Given the description of an element on the screen output the (x, y) to click on. 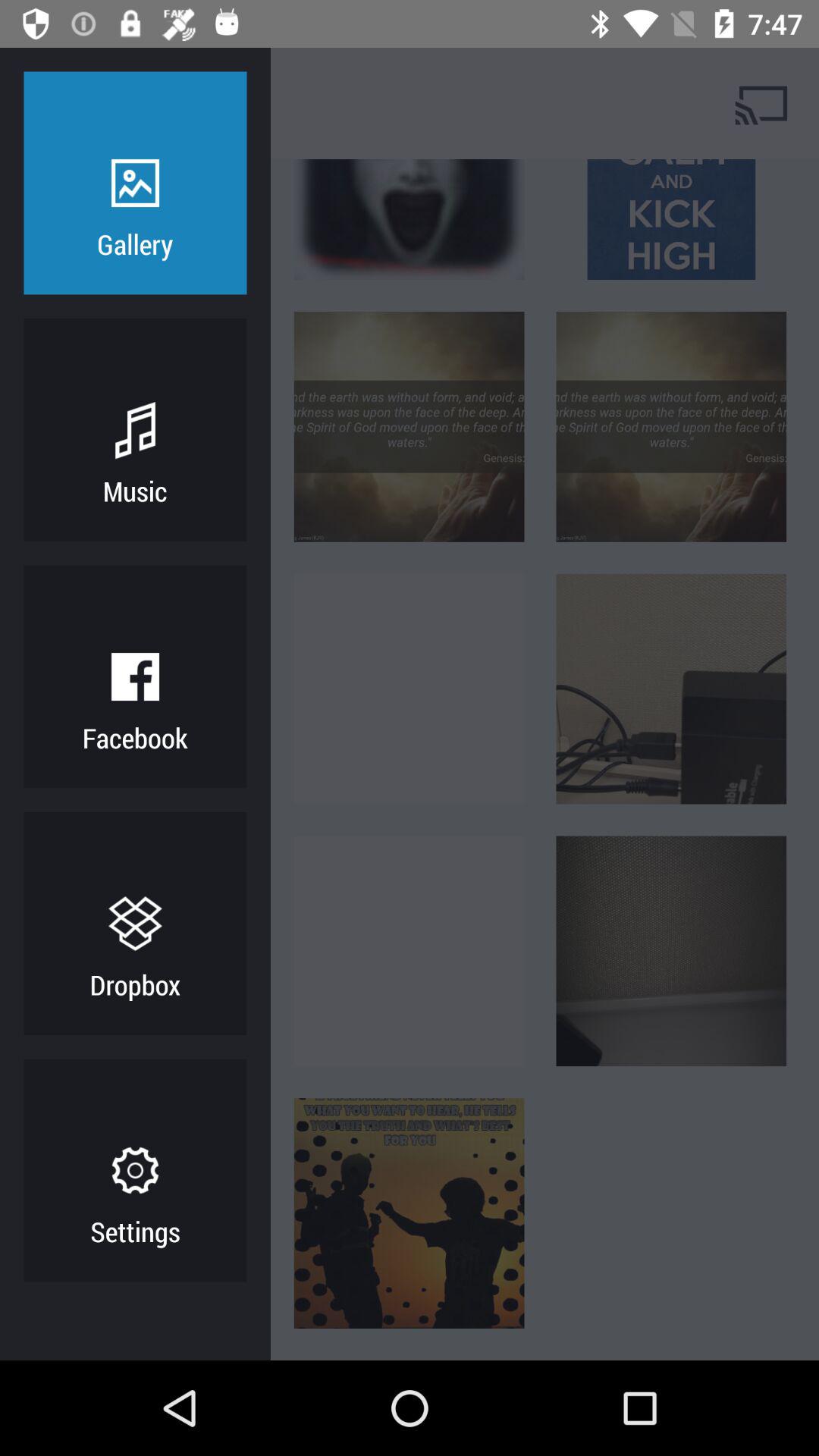
select photos app (193, 103)
